Given the description of an element on the screen output the (x, y) to click on. 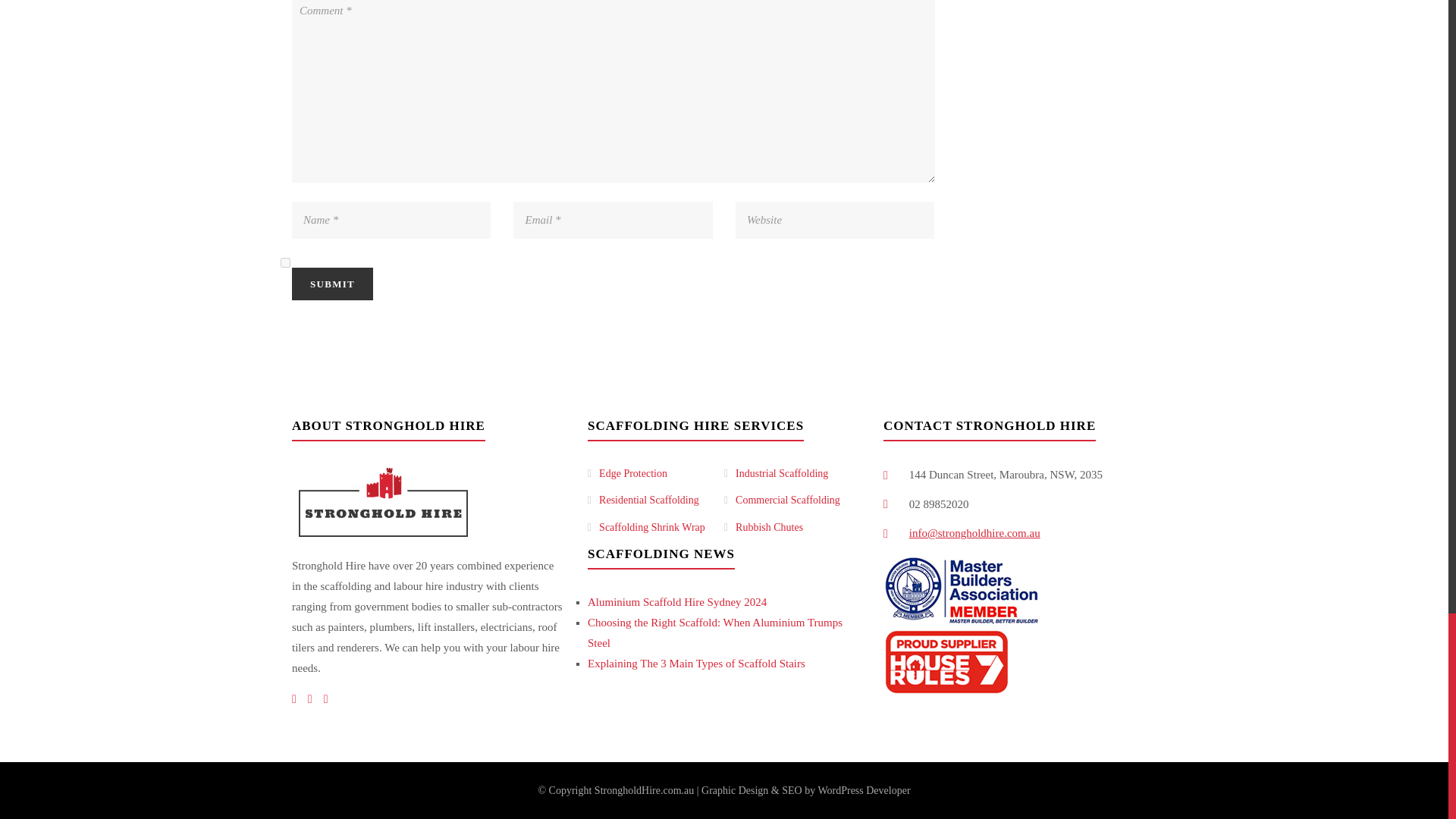
yes (285, 261)
Submit (332, 283)
